Given the description of an element on the screen output the (x, y) to click on. 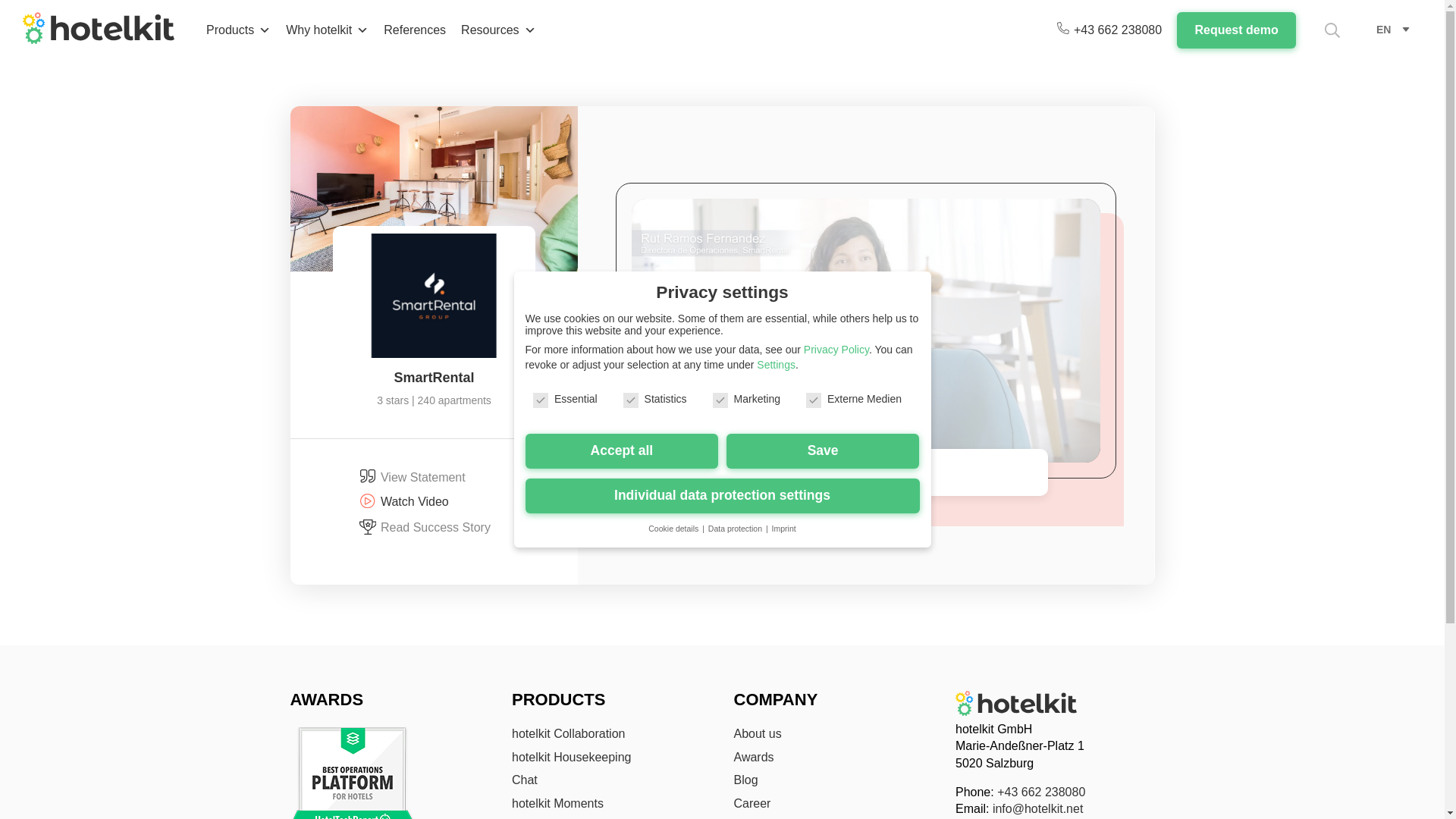
Chat (524, 779)
hotelkit Housekeeping (571, 757)
1 (808, 365)
Video laden (866, 336)
SmartRental (433, 377)
Products (238, 30)
hotelkit Moments (558, 802)
Resources (497, 30)
Why hotelkit (326, 30)
hotelkit Collaboration (568, 733)
